Given the description of an element on the screen output the (x, y) to click on. 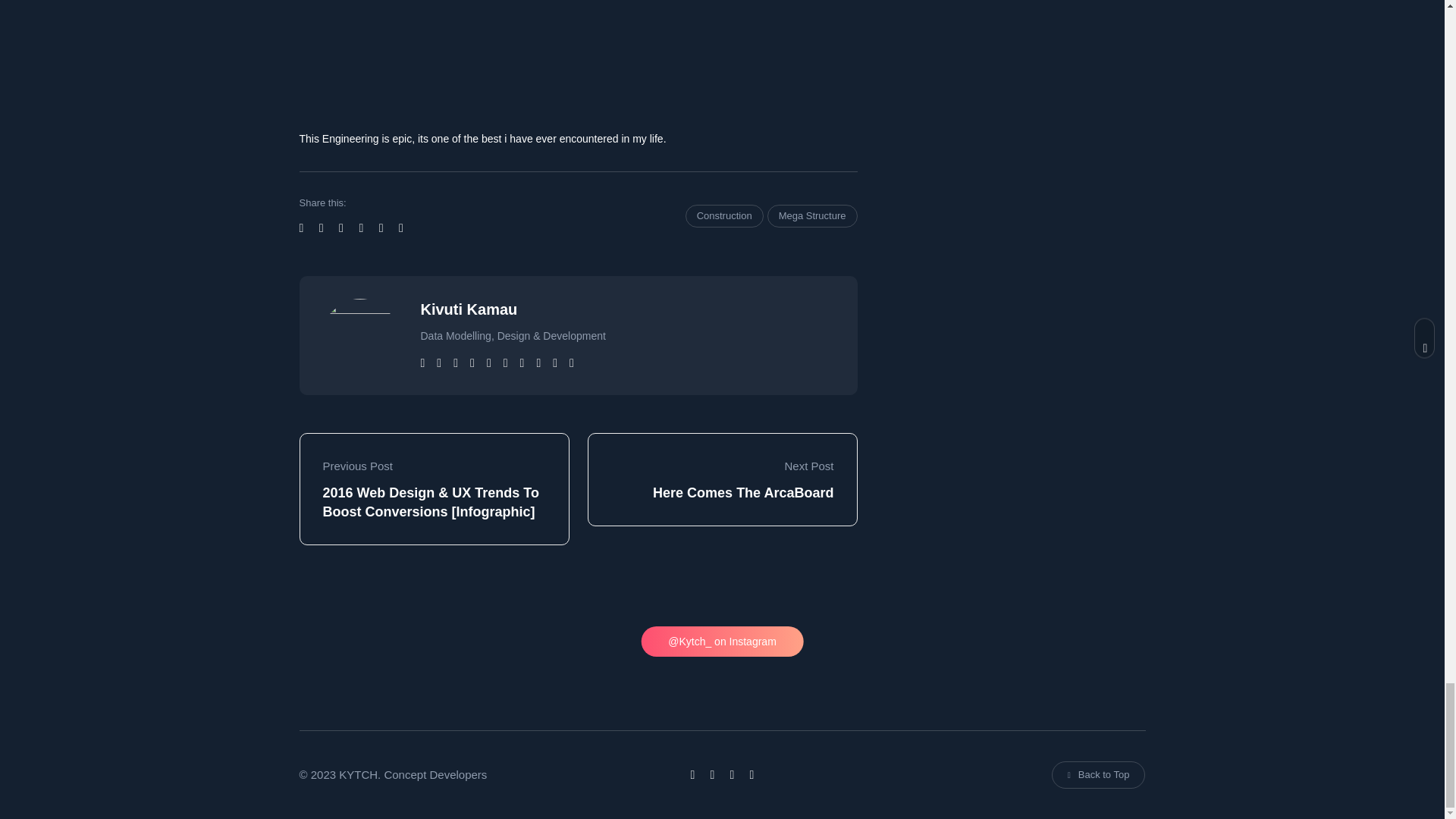
Construction (723, 215)
Mega Structure (812, 215)
Kivuti Kamau (468, 309)
